Given the description of an element on the screen output the (x, y) to click on. 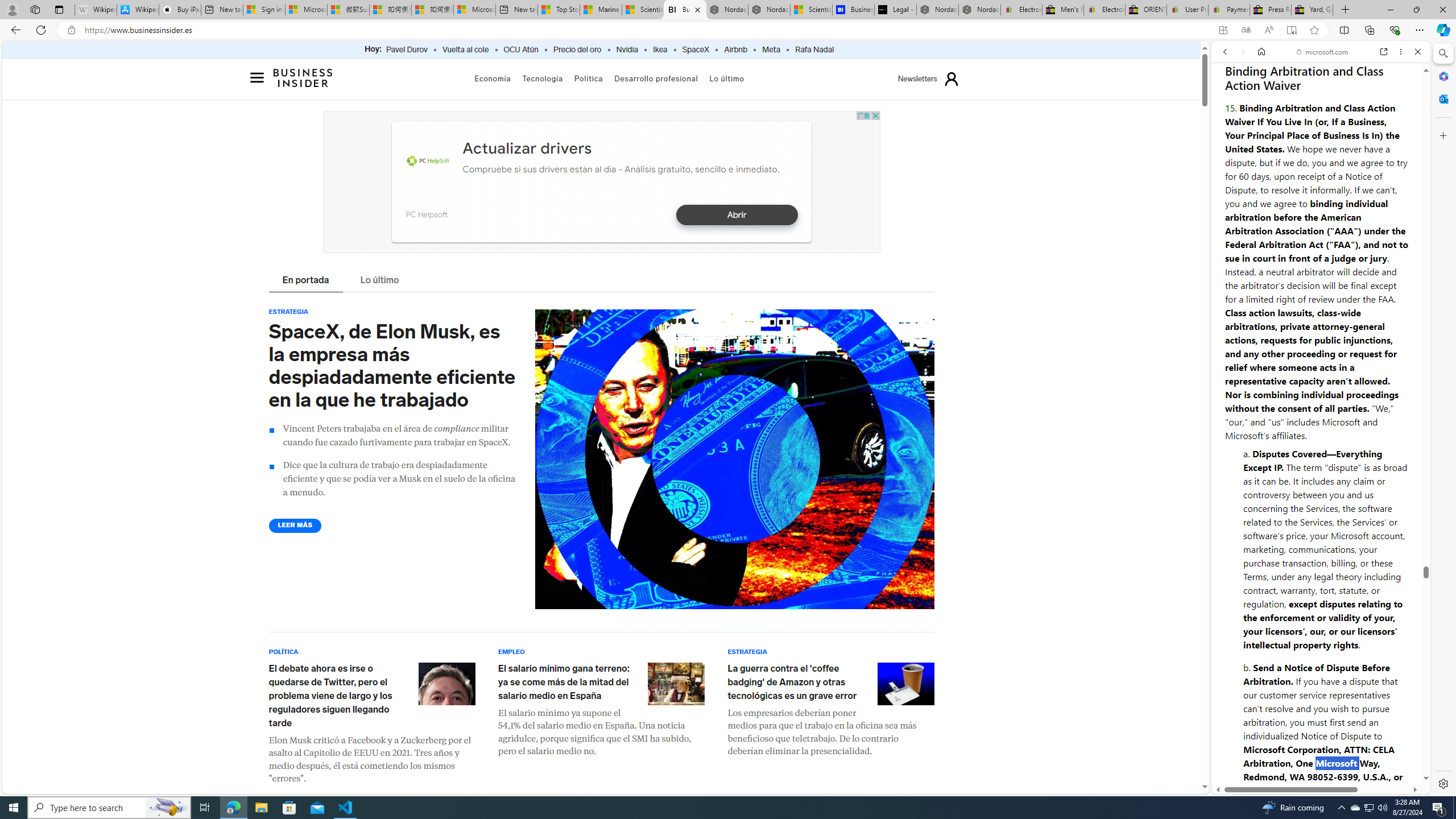
Open in New Tab (1321, 768)
Pavel Durov (406, 49)
Collage of Elon Musk with US currency and a Tesla (734, 459)
Precio del oro (576, 49)
SpaceX (695, 49)
Airbnb (735, 49)
